Given the description of an element on the screen output the (x, y) to click on. 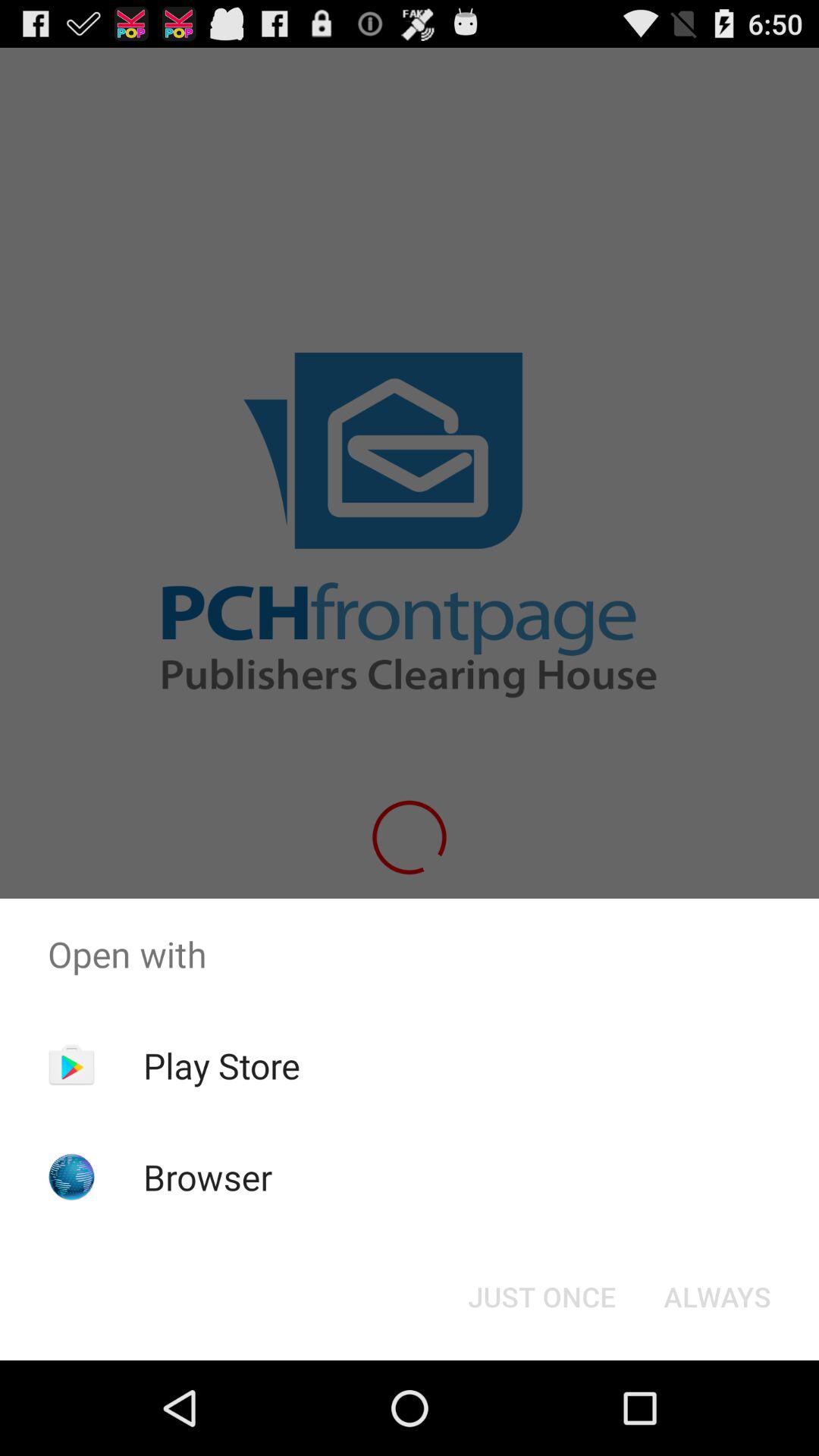
select the browser item (207, 1176)
